Given the description of an element on the screen output the (x, y) to click on. 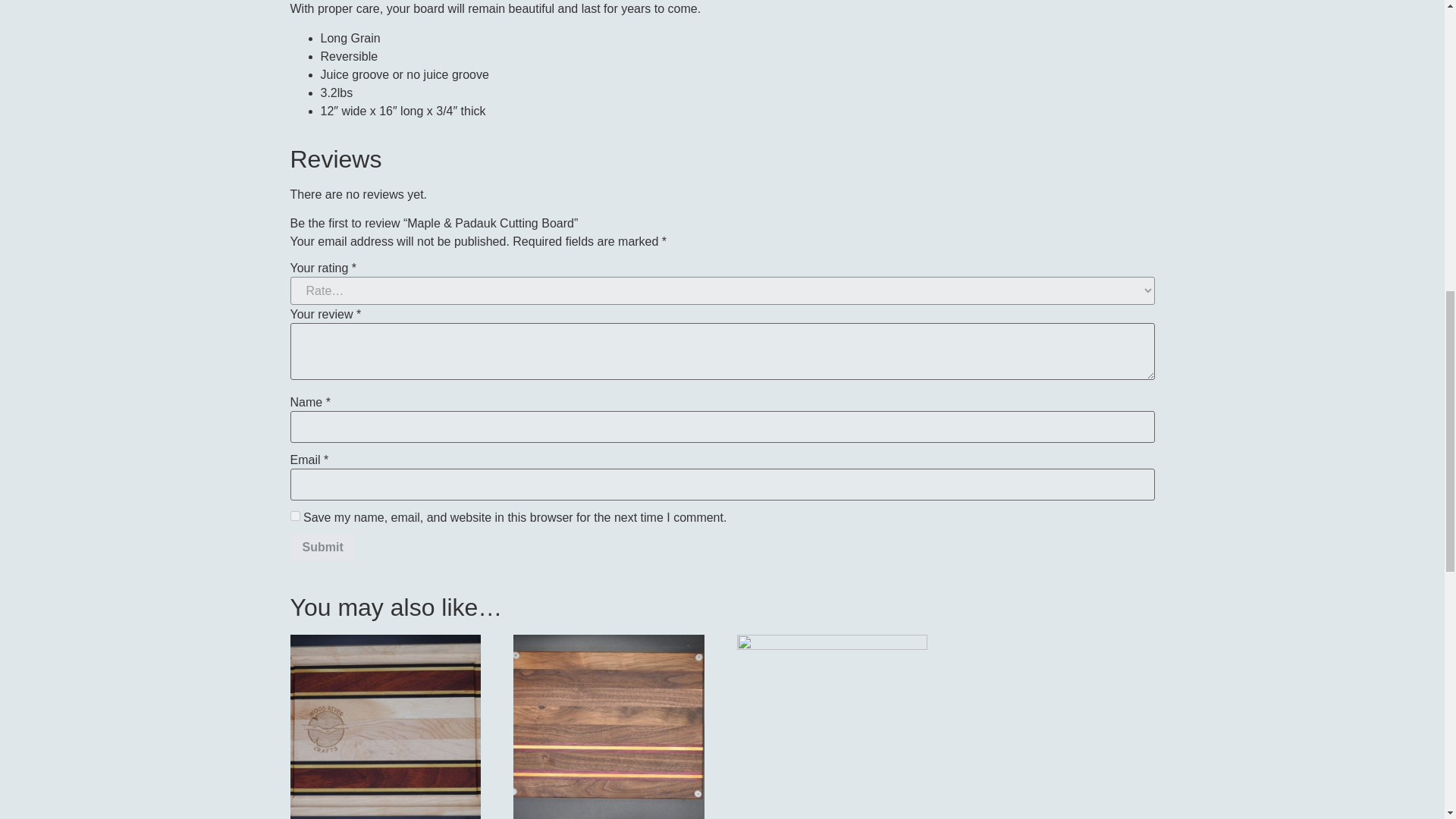
yes (294, 515)
Submit (322, 547)
Submit (322, 547)
